Given the description of an element on the screen output the (x, y) to click on. 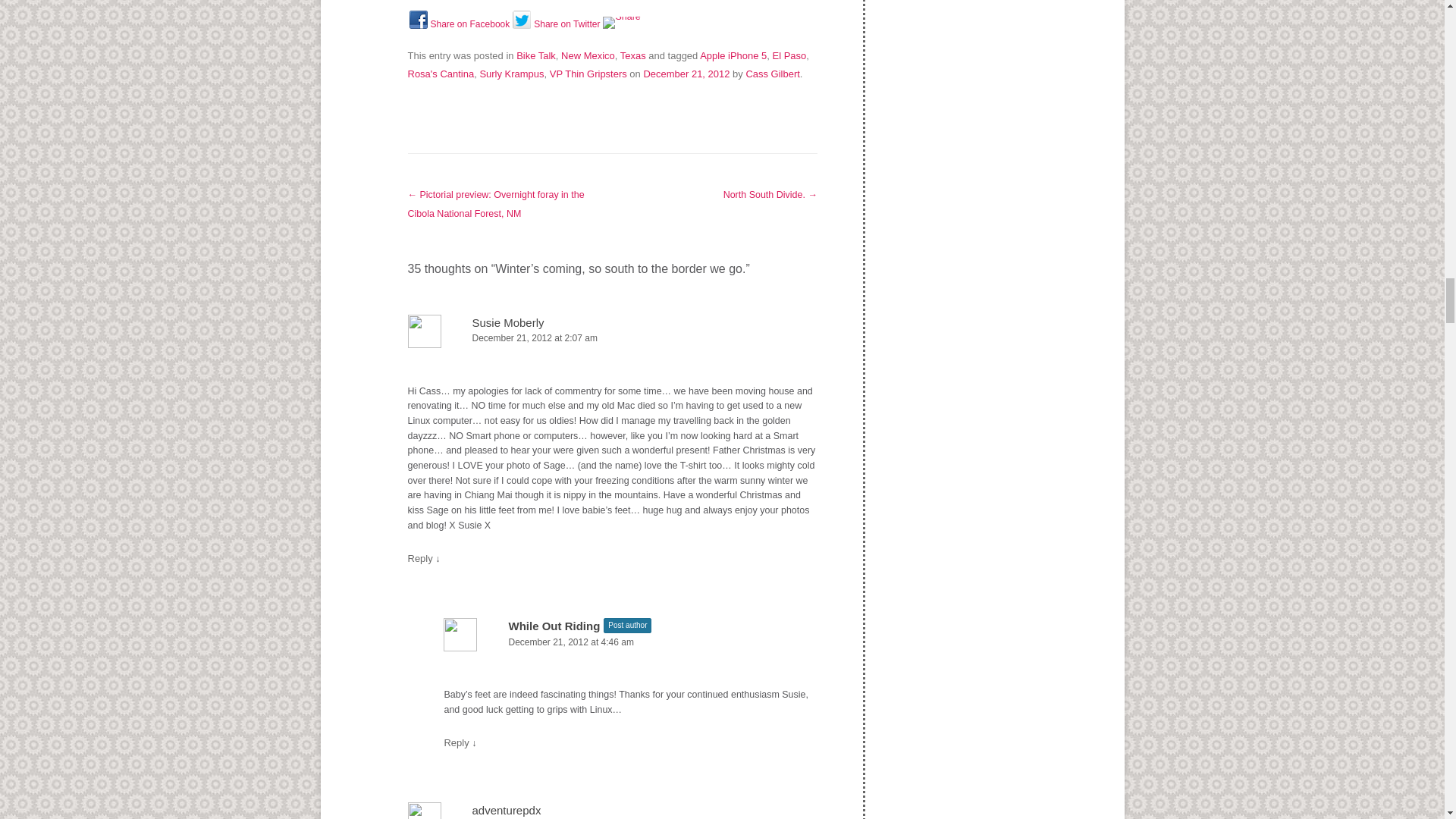
Share on Facebook (418, 19)
Share on Twitter (555, 28)
View all posts by Cass Gilbert (772, 73)
Share on Twitter (521, 19)
1:30 am (686, 73)
Share on Facebook (460, 28)
